Given the description of an element on the screen output the (x, y) to click on. 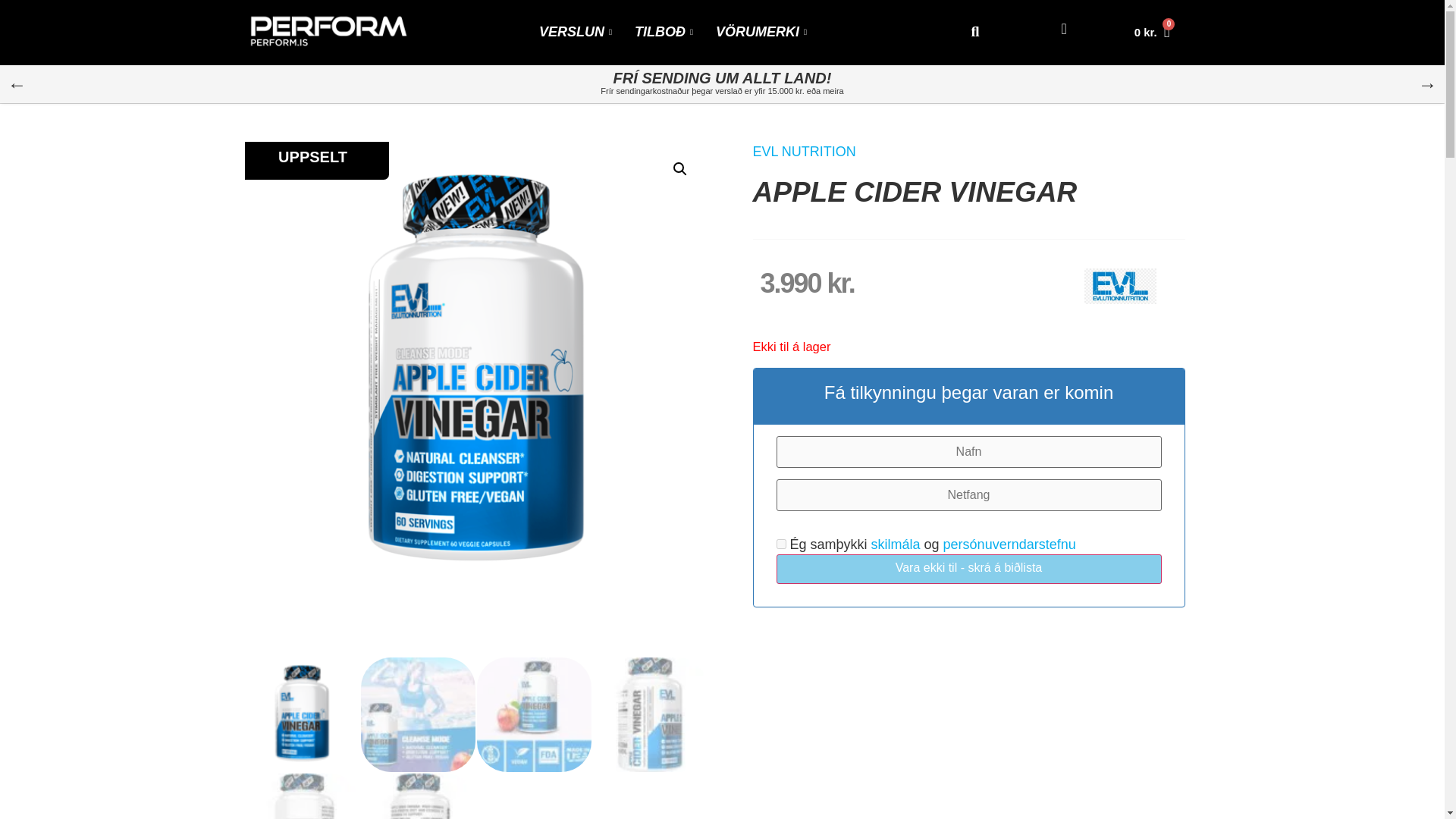
View brand (804, 151)
VERSLUN (575, 31)
View brand (1120, 299)
1 (781, 543)
